Given the description of an element on the screen output the (x, y) to click on. 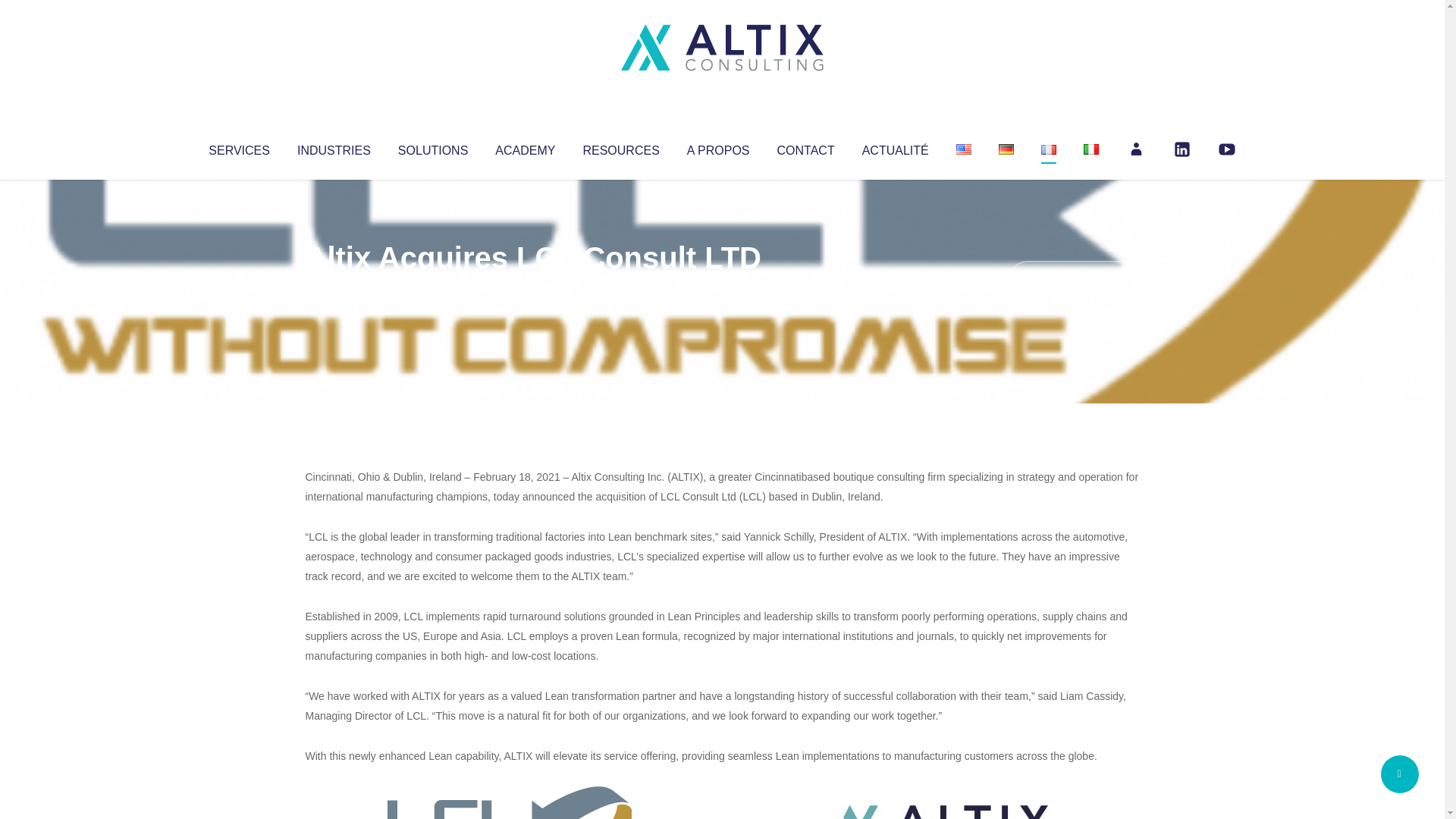
RESOURCES (620, 146)
SOLUTIONS (432, 146)
ACADEMY (524, 146)
Uncategorized (530, 287)
SERVICES (238, 146)
A PROPOS (718, 146)
No Comments (1073, 278)
INDUSTRIES (334, 146)
Altix (333, 287)
Articles par Altix (333, 287)
